Given the description of an element on the screen output the (x, y) to click on. 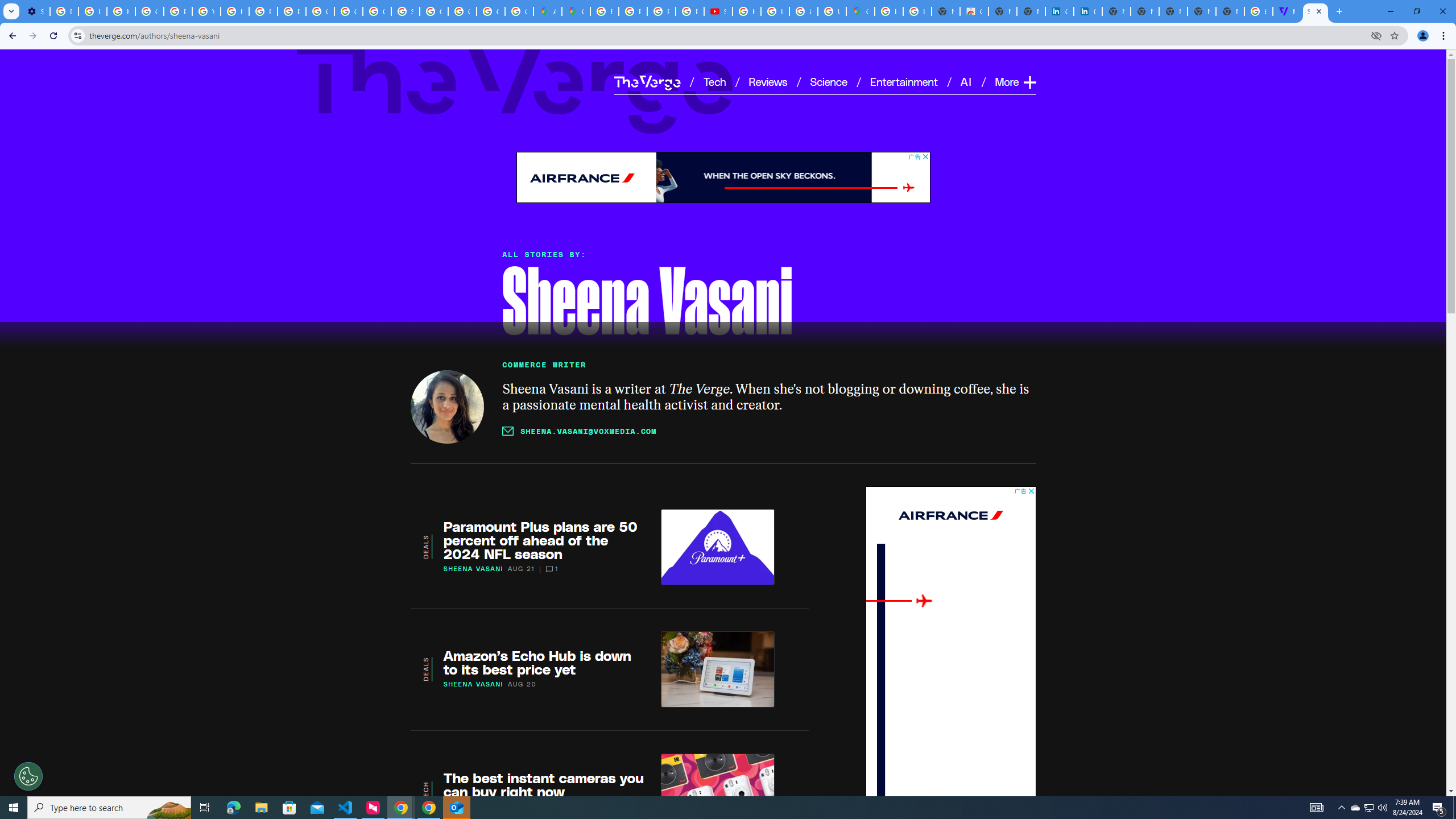
Reviews (767, 81)
Blogger Policies and Guidelines - Transparency Center (604, 11)
Cookie Policy | LinkedIn (1058, 11)
Sheena Vasani (447, 406)
The best instant cameras you can buy right now (543, 784)
The Verge (515, 85)
Science (828, 81)
New Tab (1230, 11)
